Given the description of an element on the screen output the (x, y) to click on. 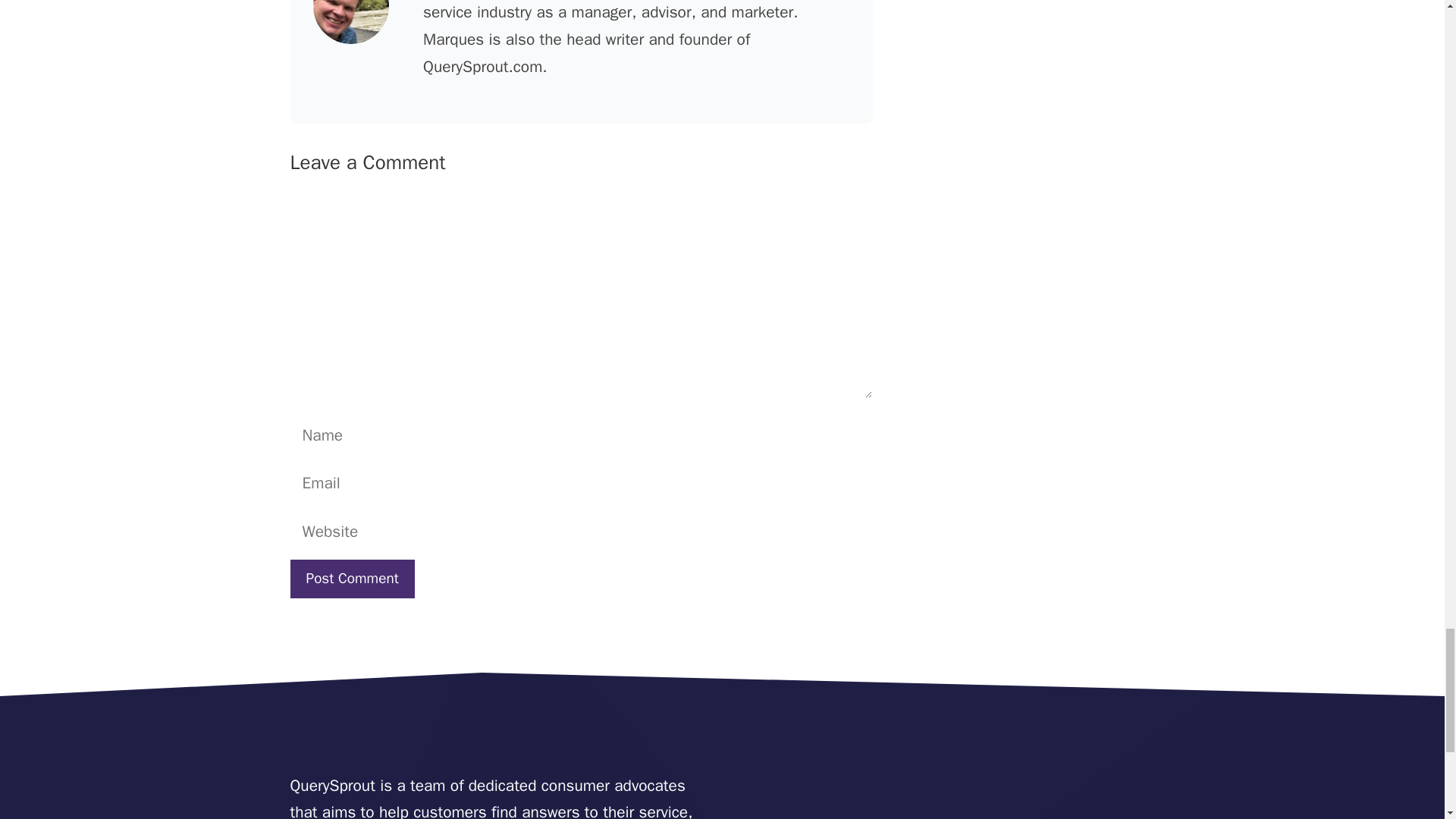
Post Comment (351, 578)
Post Comment (351, 578)
